Given the description of an element on the screen output the (x, y) to click on. 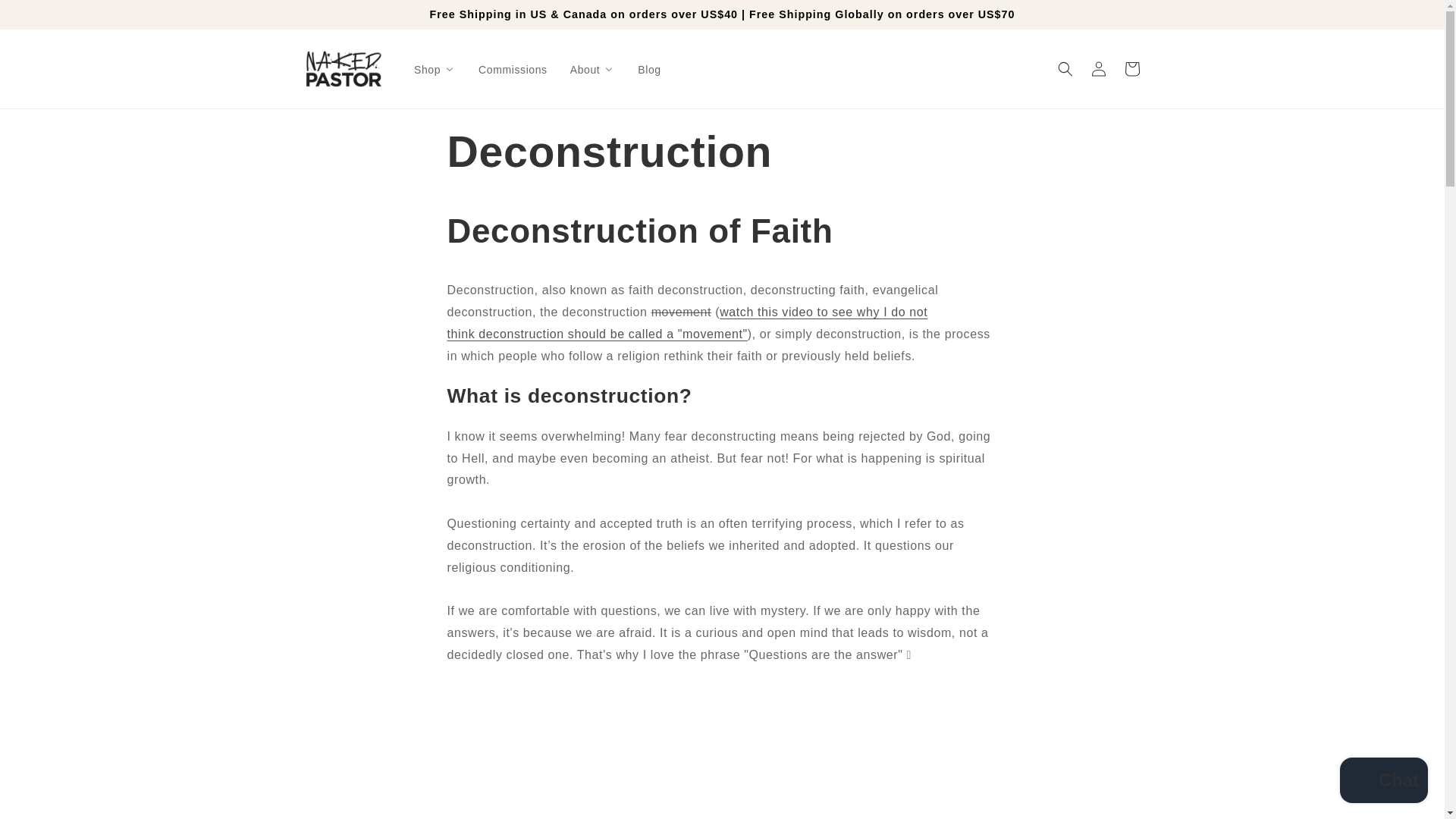
Skip to content (45, 17)
YouTube video player (721, 748)
Shopify online store chat (1383, 781)
